Given the description of an element on the screen output the (x, y) to click on. 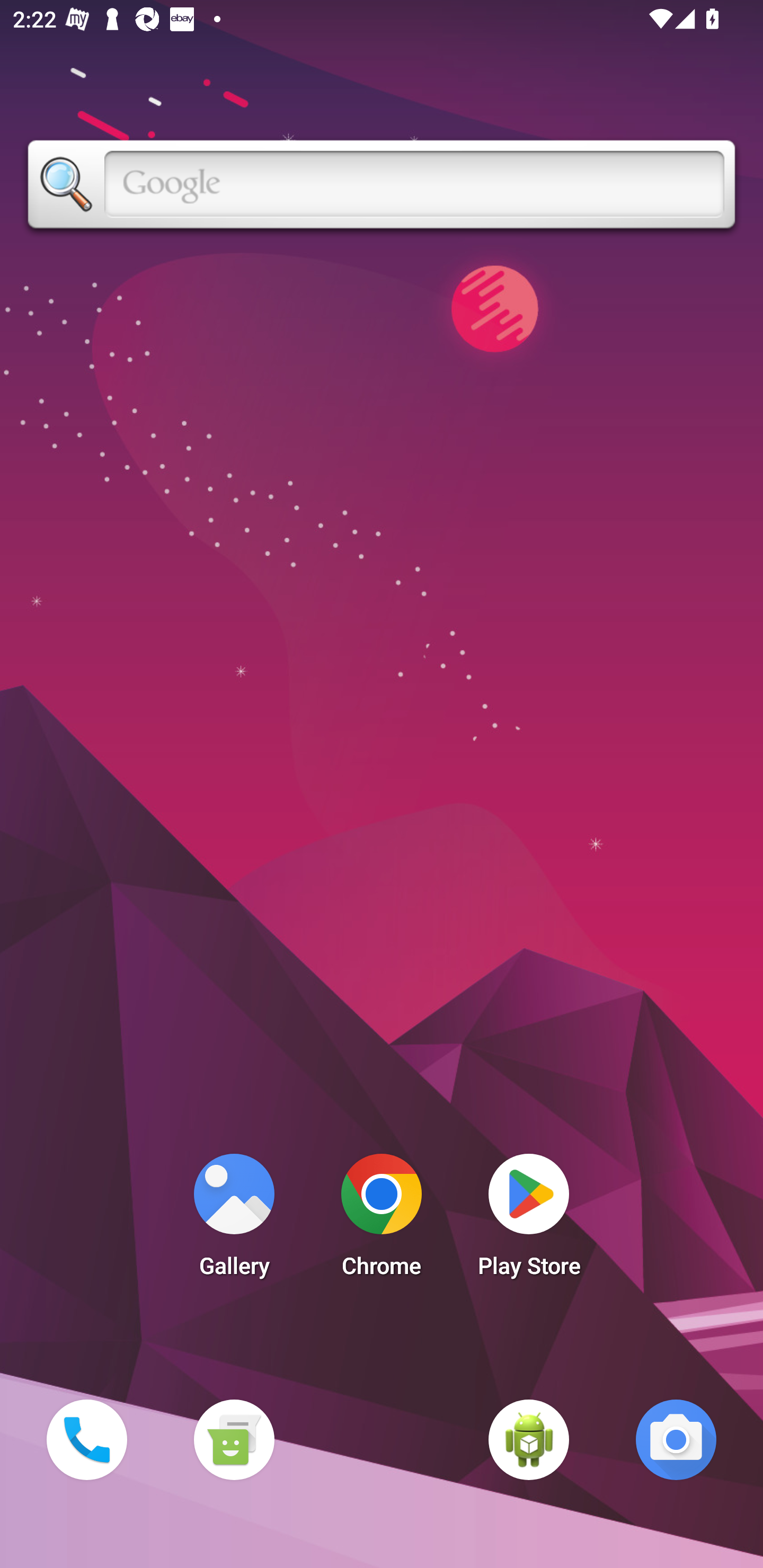
Gallery (233, 1220)
Chrome (381, 1220)
Play Store (528, 1220)
Phone (86, 1439)
Messaging (233, 1439)
WebView Browser Tester (528, 1439)
Camera (676, 1439)
